Given the description of an element on the screen output the (x, y) to click on. 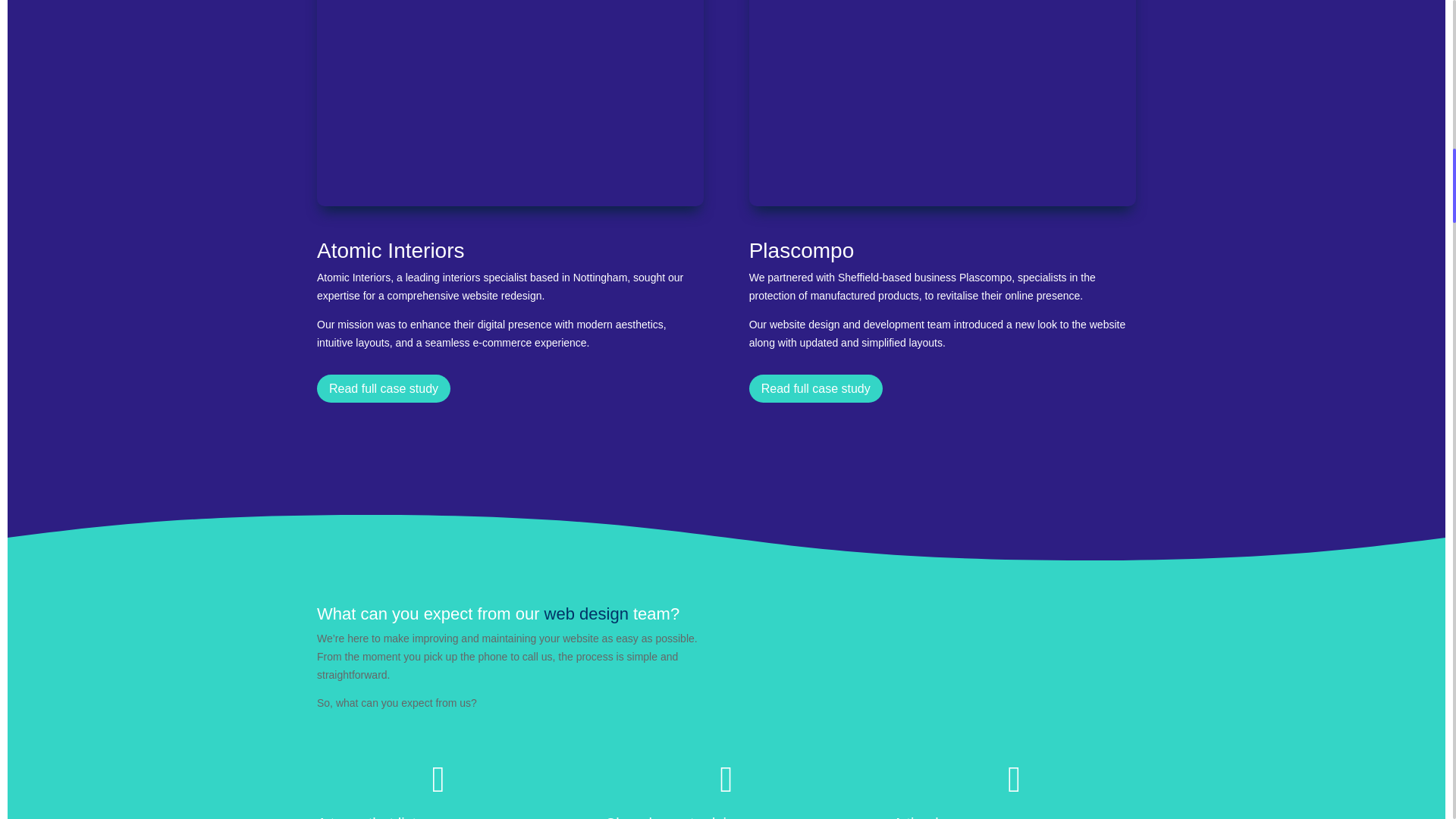
plascompo (942, 103)
atomic (510, 103)
